Given the description of an element on the screen output the (x, y) to click on. 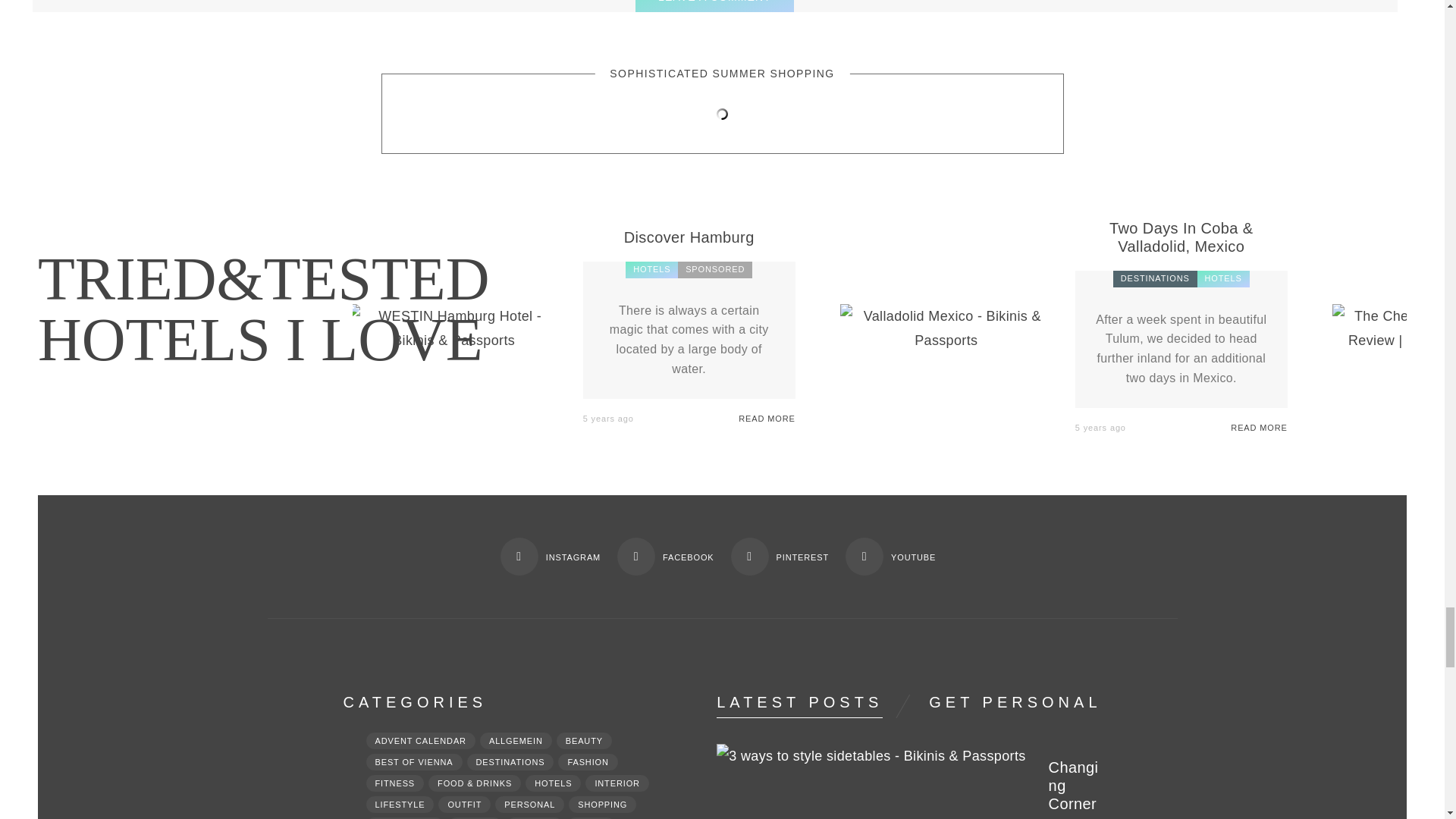
Discover Hamburg (453, 340)
